Given the description of an element on the screen output the (x, y) to click on. 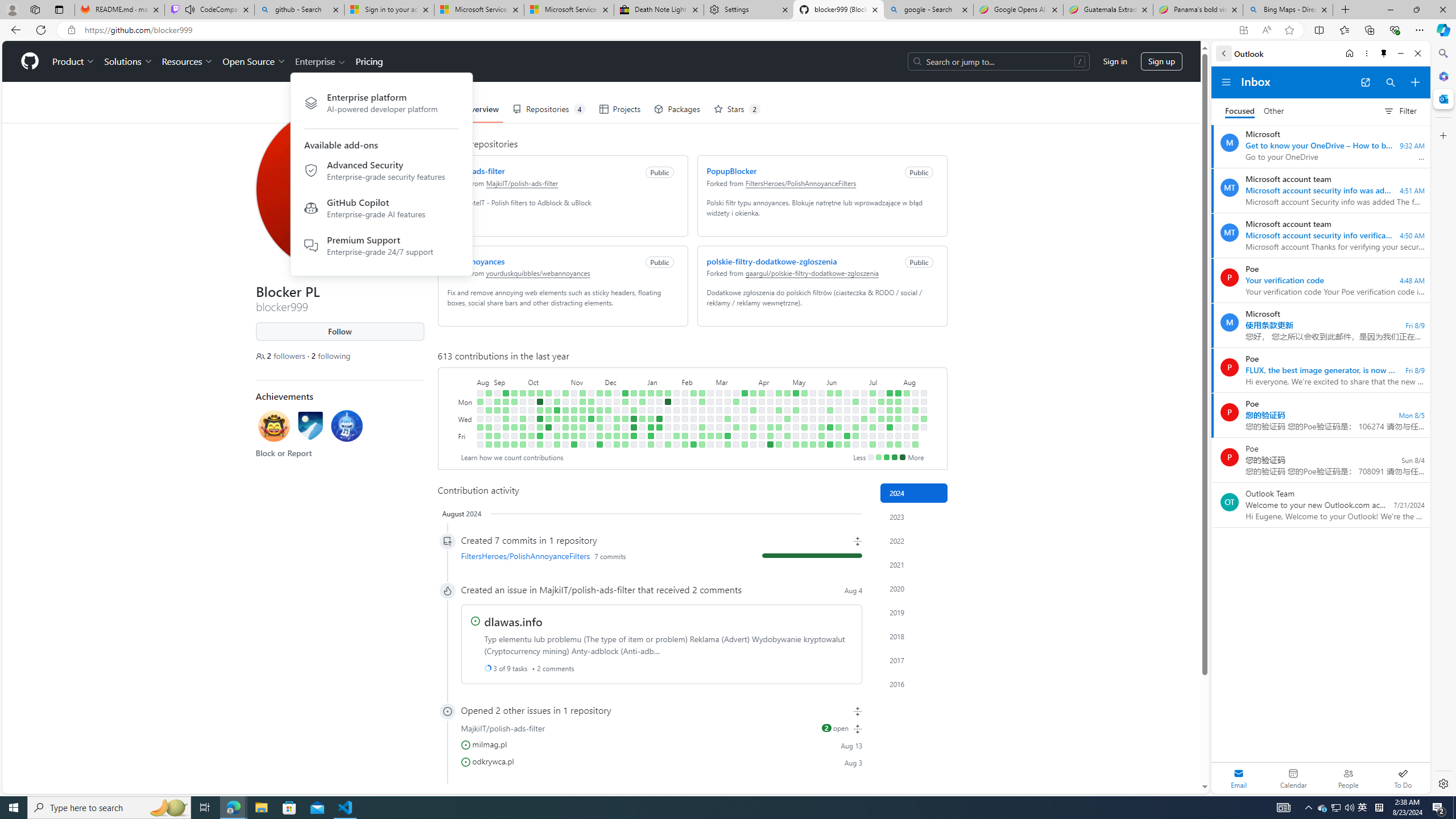
Resources (187, 60)
No contributions on February 14th. (693, 418)
5 contributions on March 18th. (735, 401)
1 contribution on December 23rd. (624, 444)
To Do (1402, 777)
1 contribution on September 12th. (505, 410)
Contribution activity in 2016 (913, 683)
Overview (474, 108)
3 contributions on September 4th. (496, 401)
No contributions on February 21st. (701, 418)
2 contributions on October 25th. (556, 418)
3 contributions on December 26th. (633, 410)
No contributions on September 25th. (522, 401)
No contributions on June 23rd. (855, 392)
3 contributions on January 10th. (650, 418)
